Given the description of an element on the screen output the (x, y) to click on. 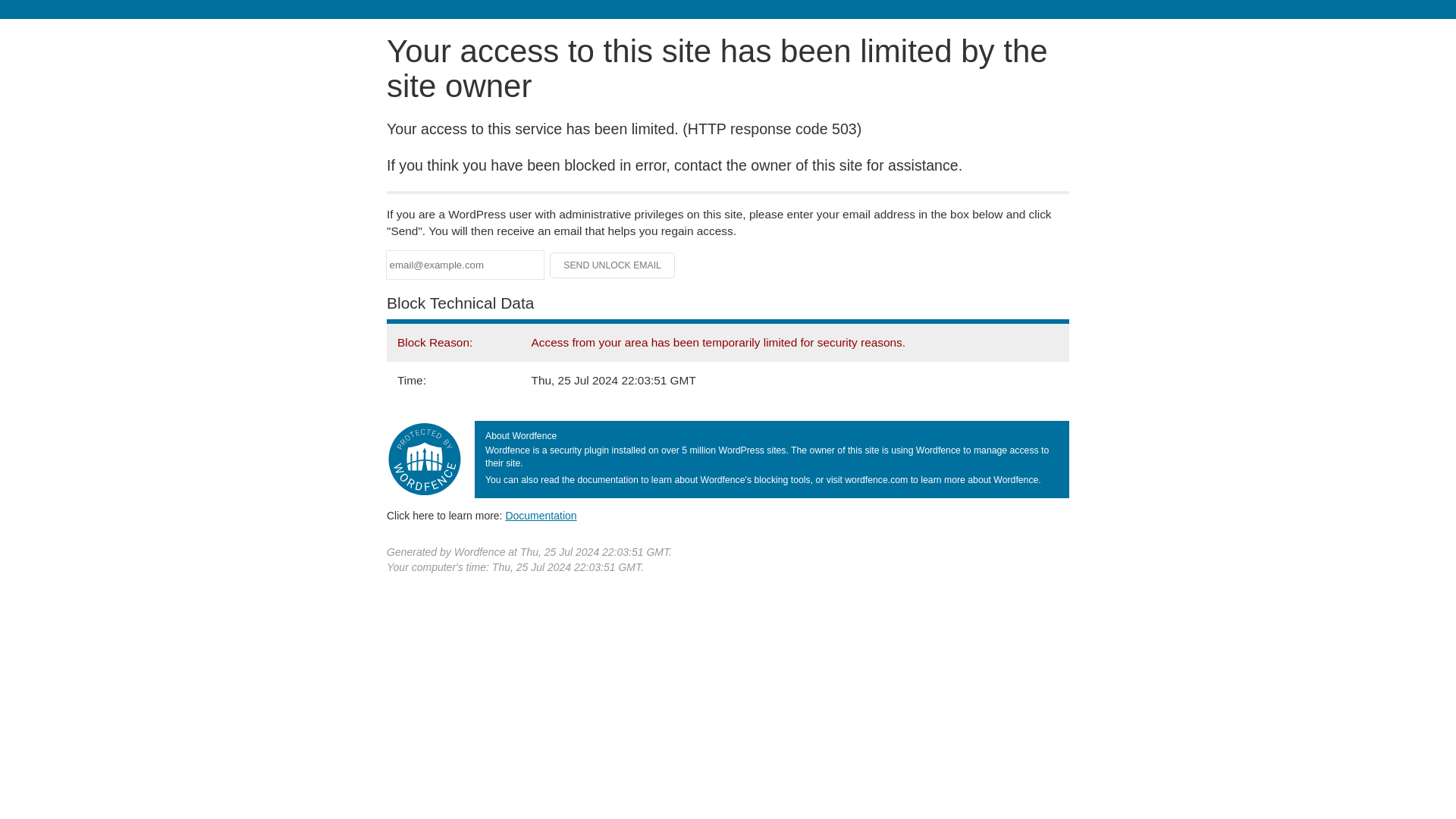
Send Unlock Email (612, 265)
Send Unlock Email (612, 265)
Documentation (540, 515)
